Given the description of an element on the screen output the (x, y) to click on. 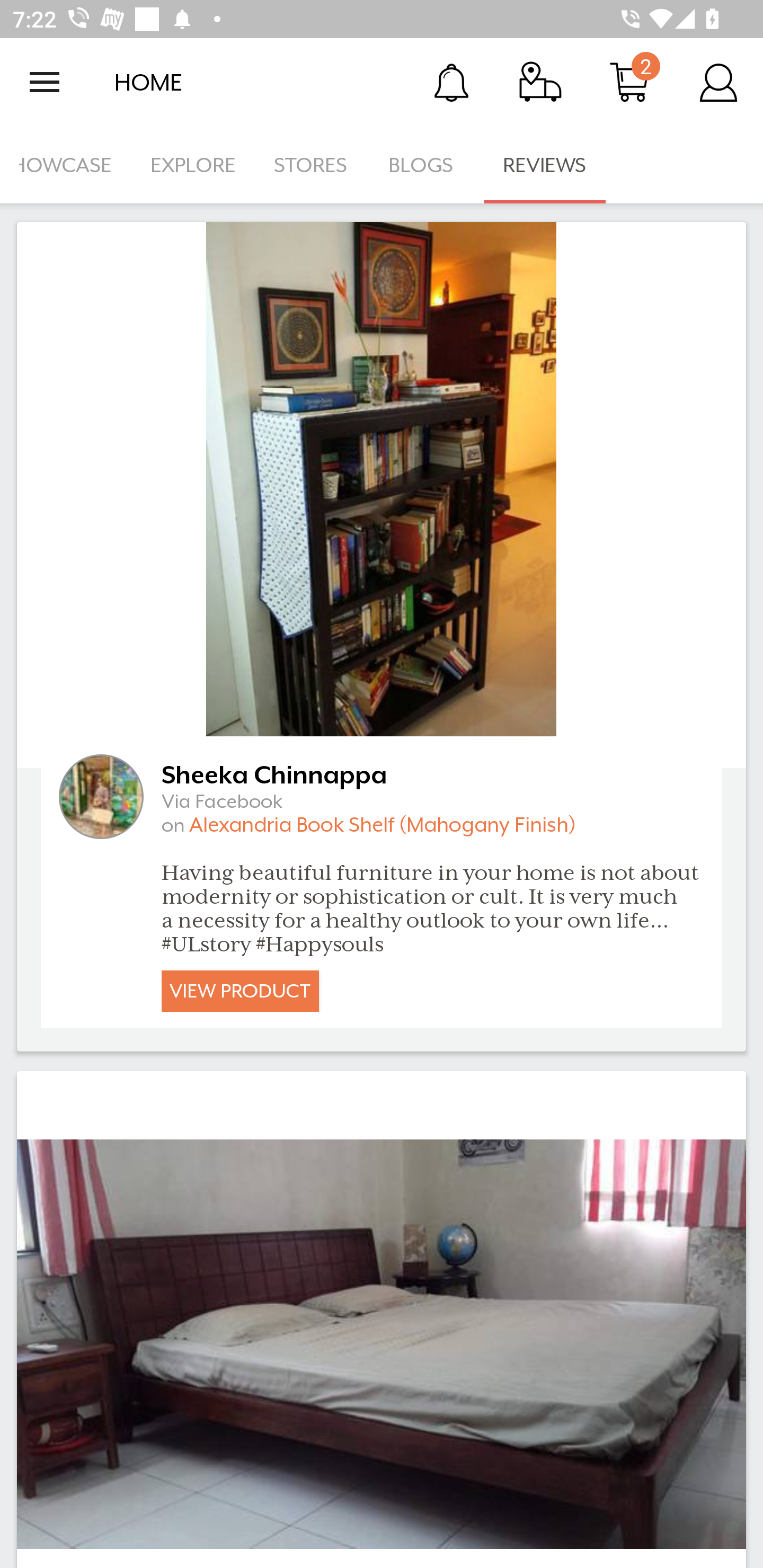
Open navigation drawer (44, 82)
Notification (450, 81)
Track Order (540, 81)
Cart (629, 81)
Account Details (718, 81)
SHOWCASE (65, 165)
EXPLORE (192, 165)
STORES (311, 165)
BLOGS (426, 165)
REVIEWS (544, 165)
VIEW PRODUCT (239, 990)
